Given the description of an element on the screen output the (x, y) to click on. 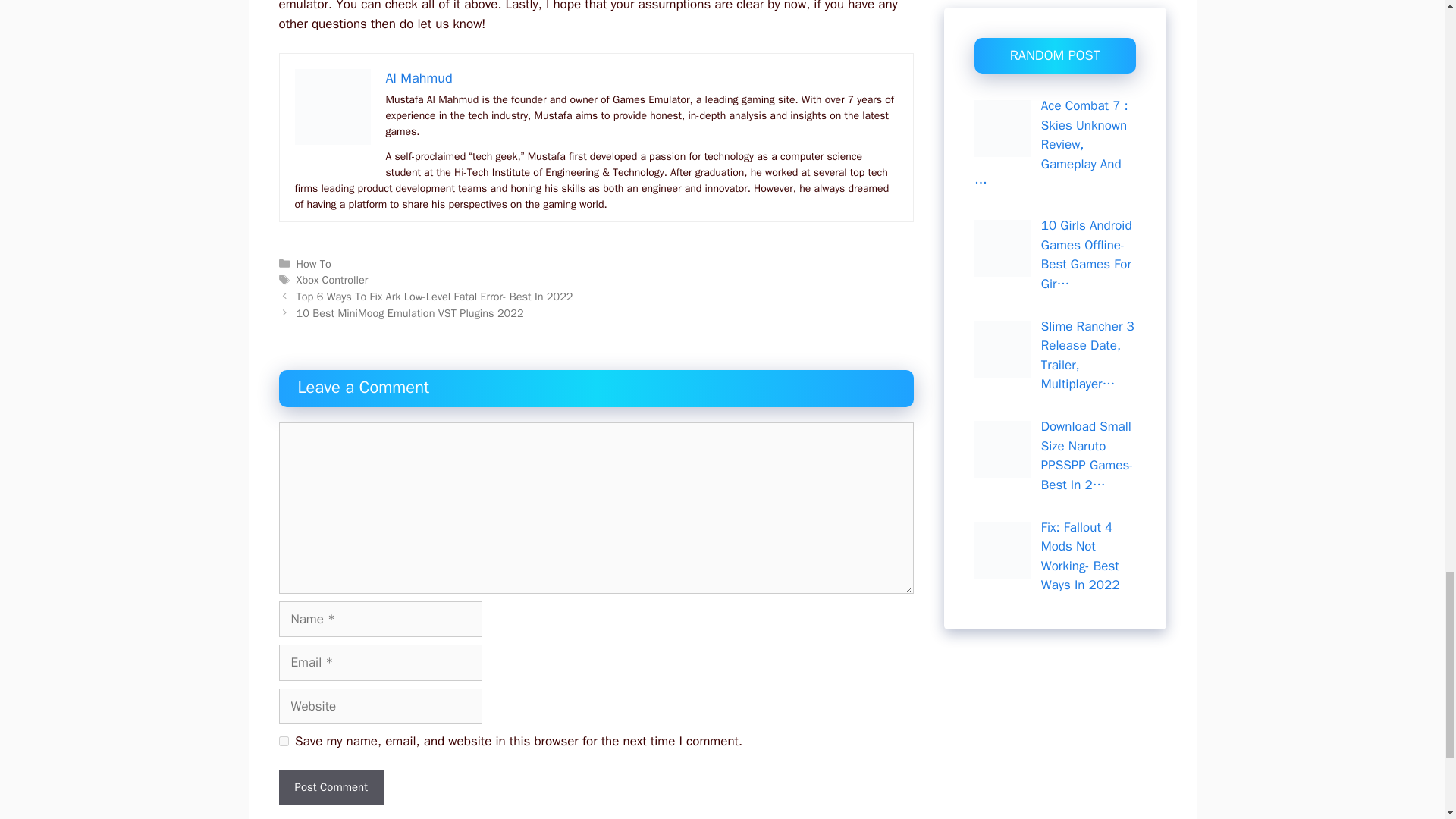
yes (283, 741)
Xbox Controller (332, 279)
Top 6 Ways To Fix Ark Low-Level Fatal Error- Best In 2022 (435, 296)
Post Comment (331, 787)
Post Comment (331, 787)
10 Best MiniMoog Emulation VST Plugins 2022 (410, 313)
How To (314, 264)
Al Mahmud (418, 77)
